Given the description of an element on the screen output the (x, y) to click on. 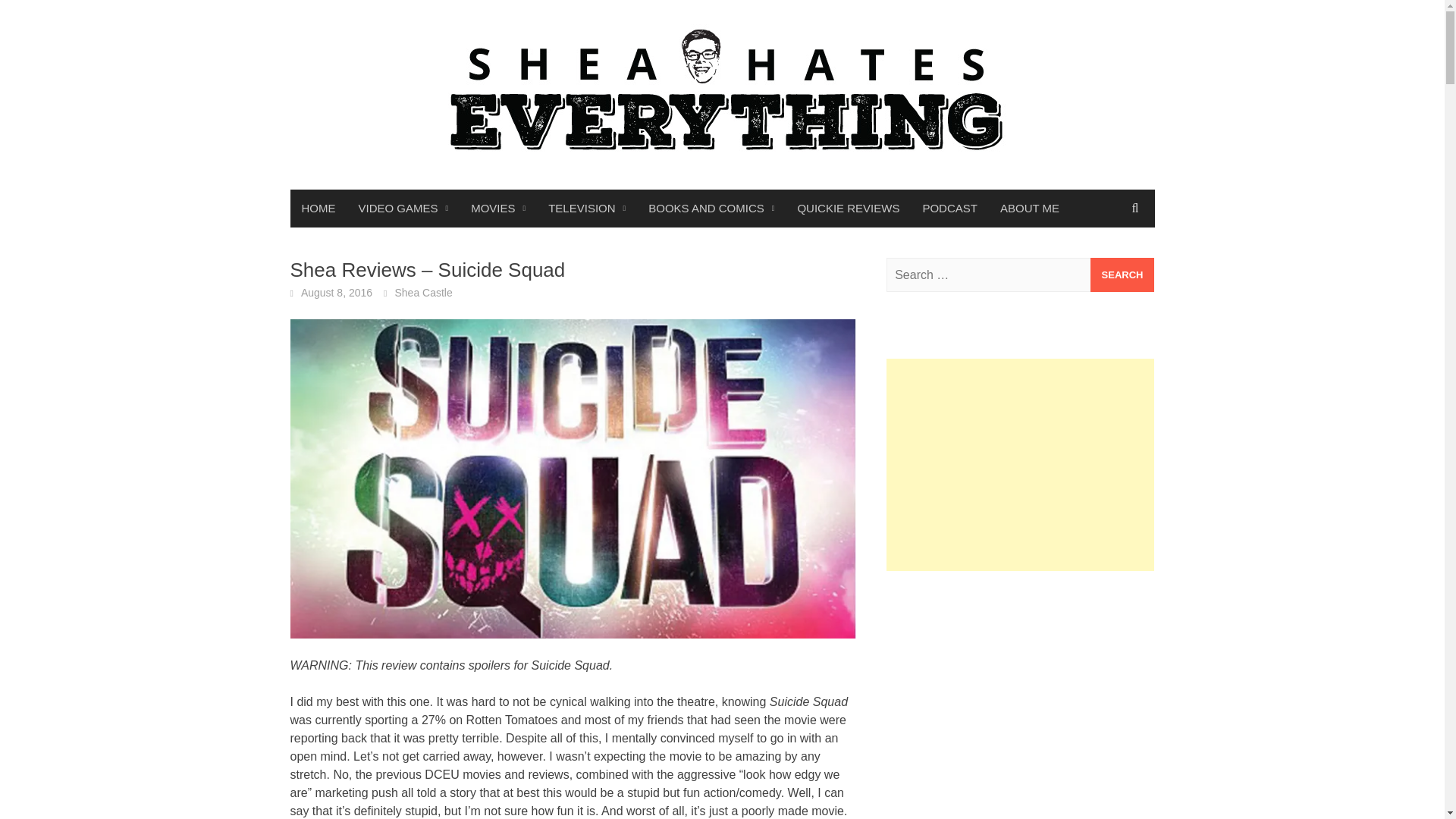
BOOKS AND COMICS (711, 208)
TELEVISION (587, 208)
HOME (317, 208)
MOVIES (498, 208)
ABOUT ME (1029, 208)
PODCAST (949, 208)
Search (1122, 274)
Search (1122, 274)
Advertisement (1020, 694)
QUICKIE REVIEWS (848, 208)
VIDEO GAMES (403, 208)
